Given the description of an element on the screen output the (x, y) to click on. 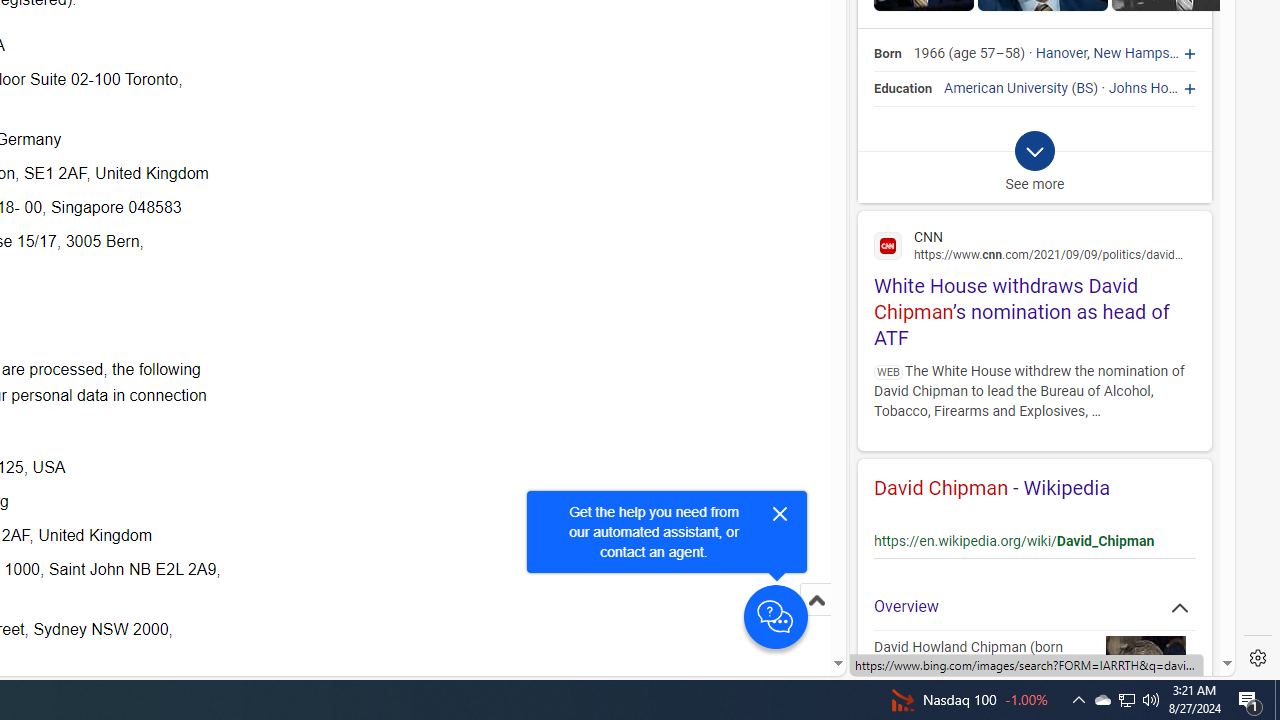
Born (888, 53)
New Hampshire (1142, 53)
BS (1085, 88)
